Given the description of an element on the screen output the (x, y) to click on. 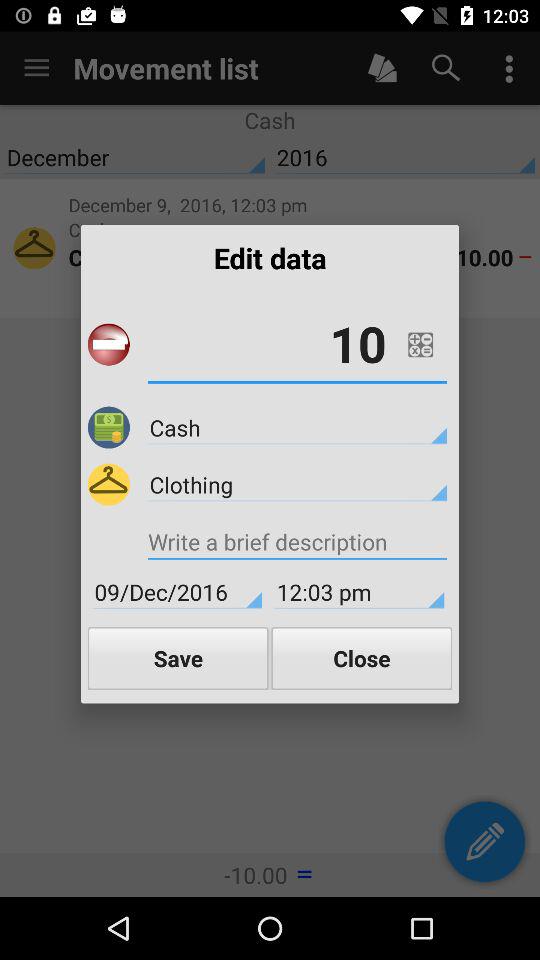
launch item on the right (420, 344)
